Given the description of an element on the screen output the (x, y) to click on. 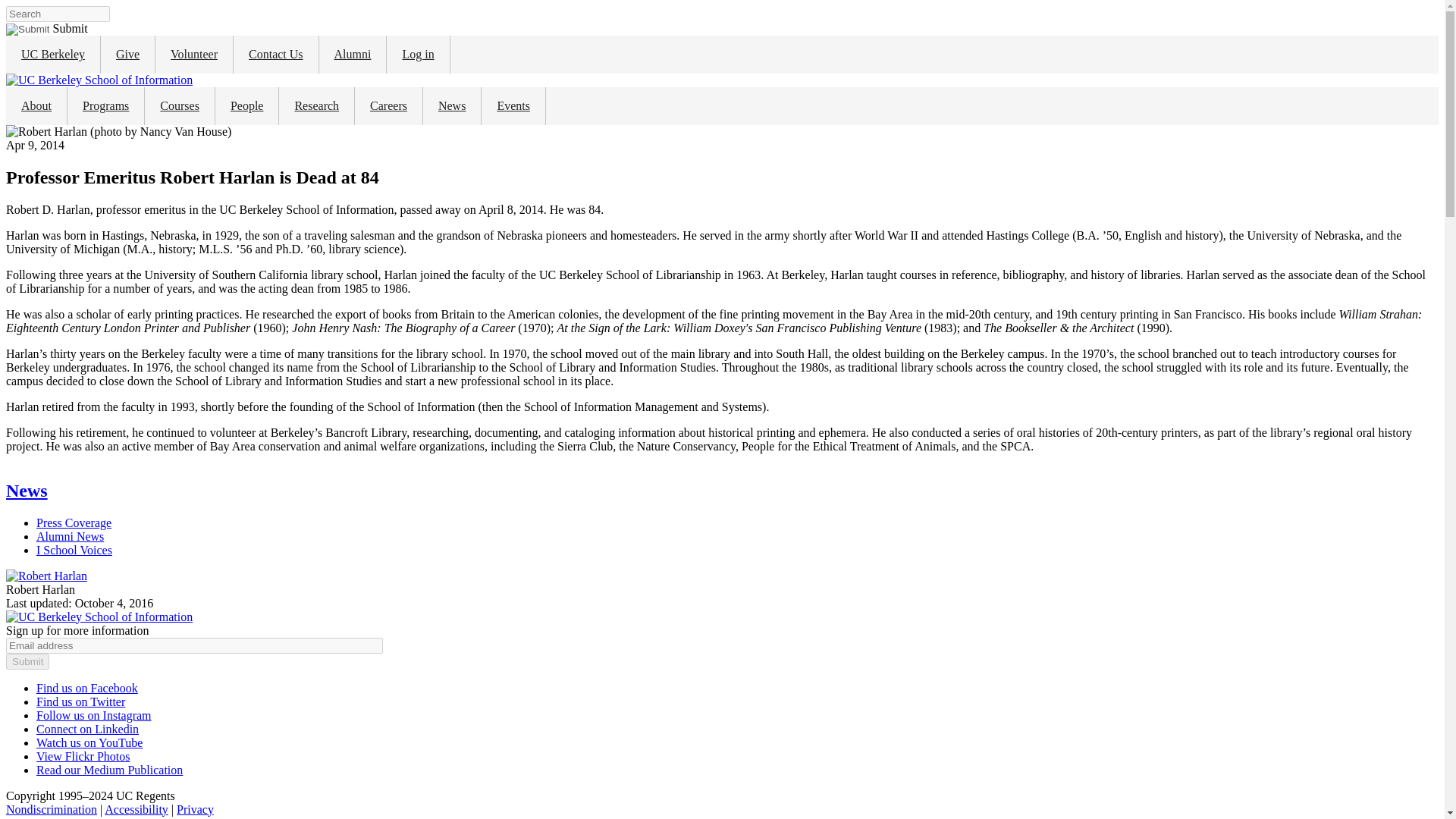
Home (98, 79)
UC Berkeley (52, 54)
Log in (417, 54)
Alumni (352, 54)
Search (27, 29)
Contact Us (275, 54)
UC Berkeley School of Information (98, 79)
Volunteer (193, 54)
Programs (105, 105)
